Given the description of an element on the screen output the (x, y) to click on. 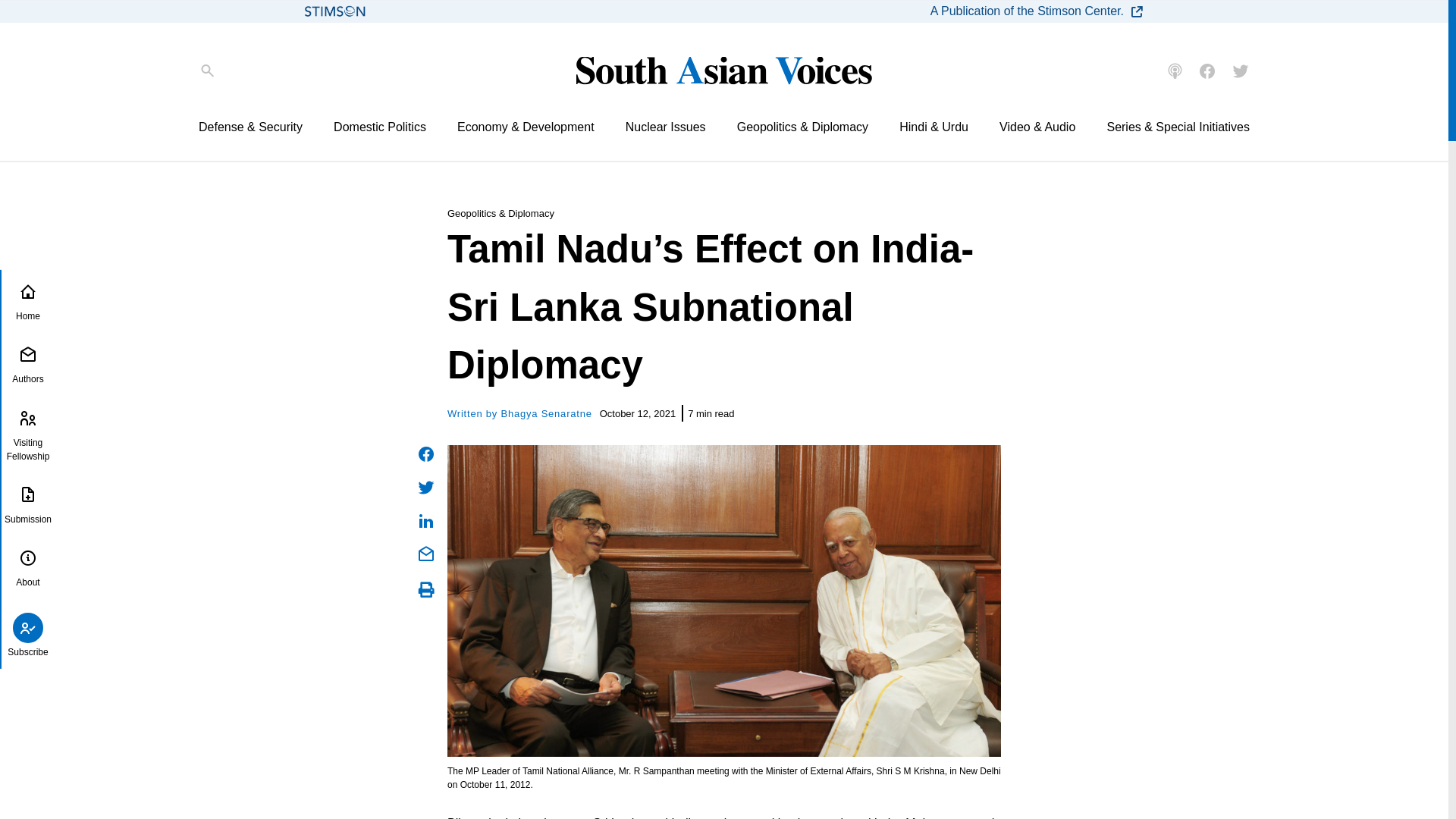
A Publication of the Stimson Center. (1037, 11)
Share at LinkedIn (425, 520)
Tweet It (425, 487)
Submission (27, 506)
Visiting Fellowship (28, 435)
Nuclear Issues (666, 126)
Print it (426, 589)
Send via email (425, 554)
Domestic Politics (379, 126)
Share at Facebook (425, 454)
